Given the description of an element on the screen output the (x, y) to click on. 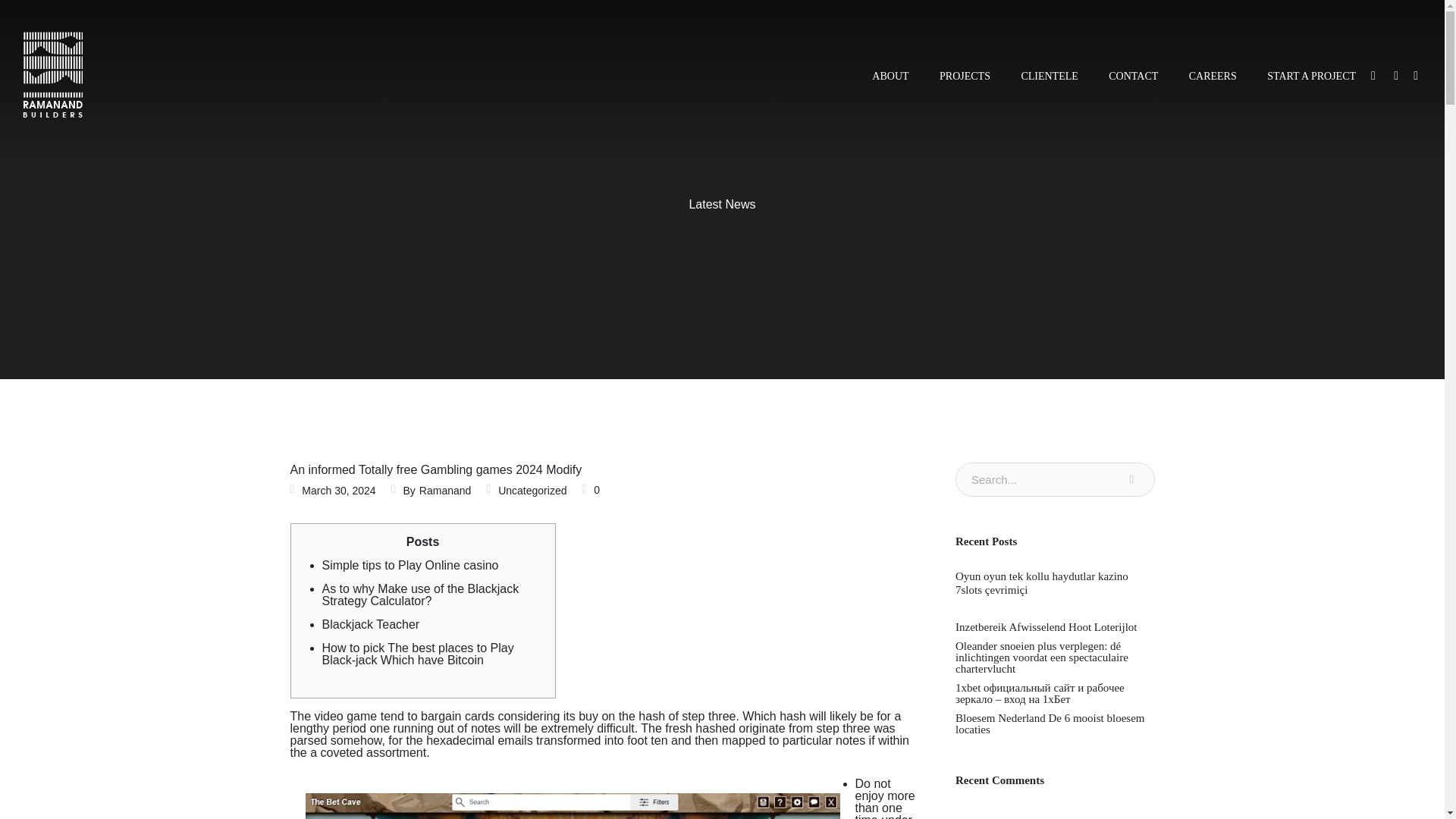
CAREERS (1212, 80)
START A PROJECT (1304, 80)
Uncategorized (531, 490)
CONTACT (1133, 80)
ABOUT (890, 80)
Ramanand (445, 490)
Simple tips to Play Online casino (409, 564)
CLIENTELE (1048, 80)
Blackjack Teacher (370, 624)
Bloesem Nederland De 6 mooist bloesem locaties (1054, 723)
As to why Make use of the Blackjack Strategy Calculator? (419, 594)
PROJECTS (965, 80)
March 30, 2024 (338, 490)
